Given the description of an element on the screen output the (x, y) to click on. 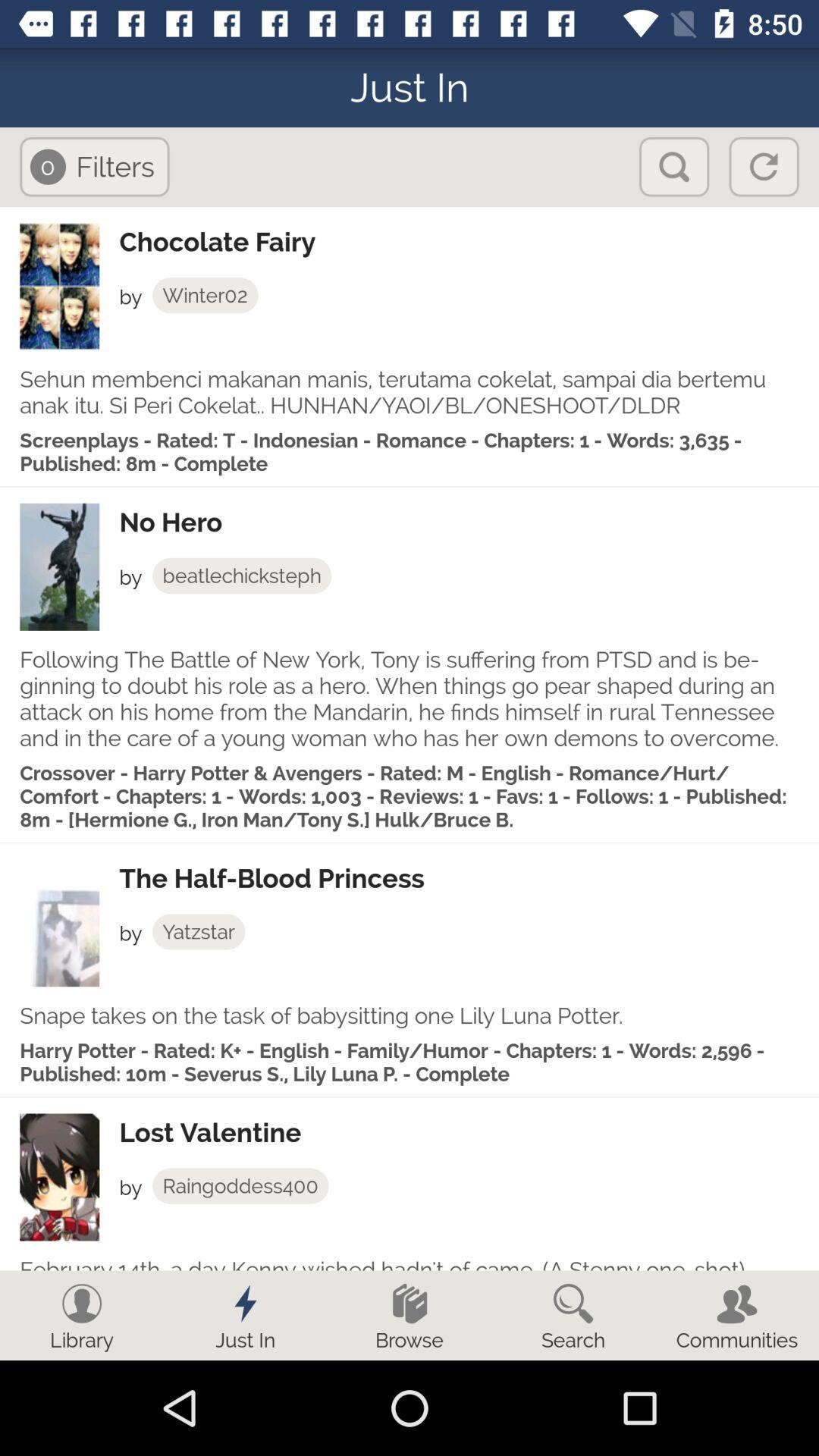
jump to no hero item (469, 522)
